Given the description of an element on the screen output the (x, y) to click on. 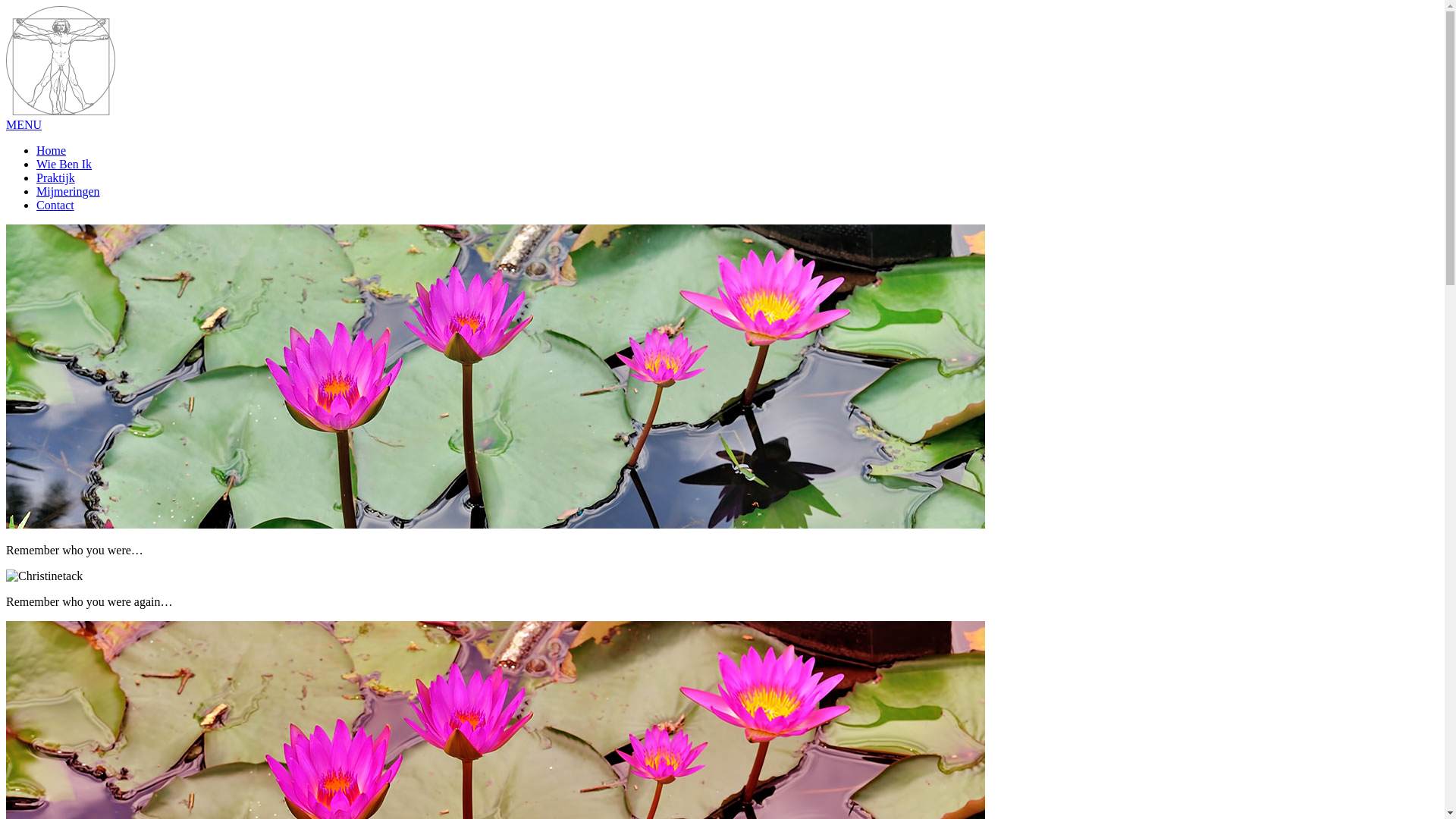
Mijmeringen Element type: text (68, 191)
Wie Ben Ik Element type: text (63, 163)
Praktijk Element type: text (55, 177)
MENU Element type: text (23, 124)
Contact Element type: text (55, 204)
Home Element type: text (50, 150)
Christinetack Element type: hover (60, 110)
